Given the description of an element on the screen output the (x, y) to click on. 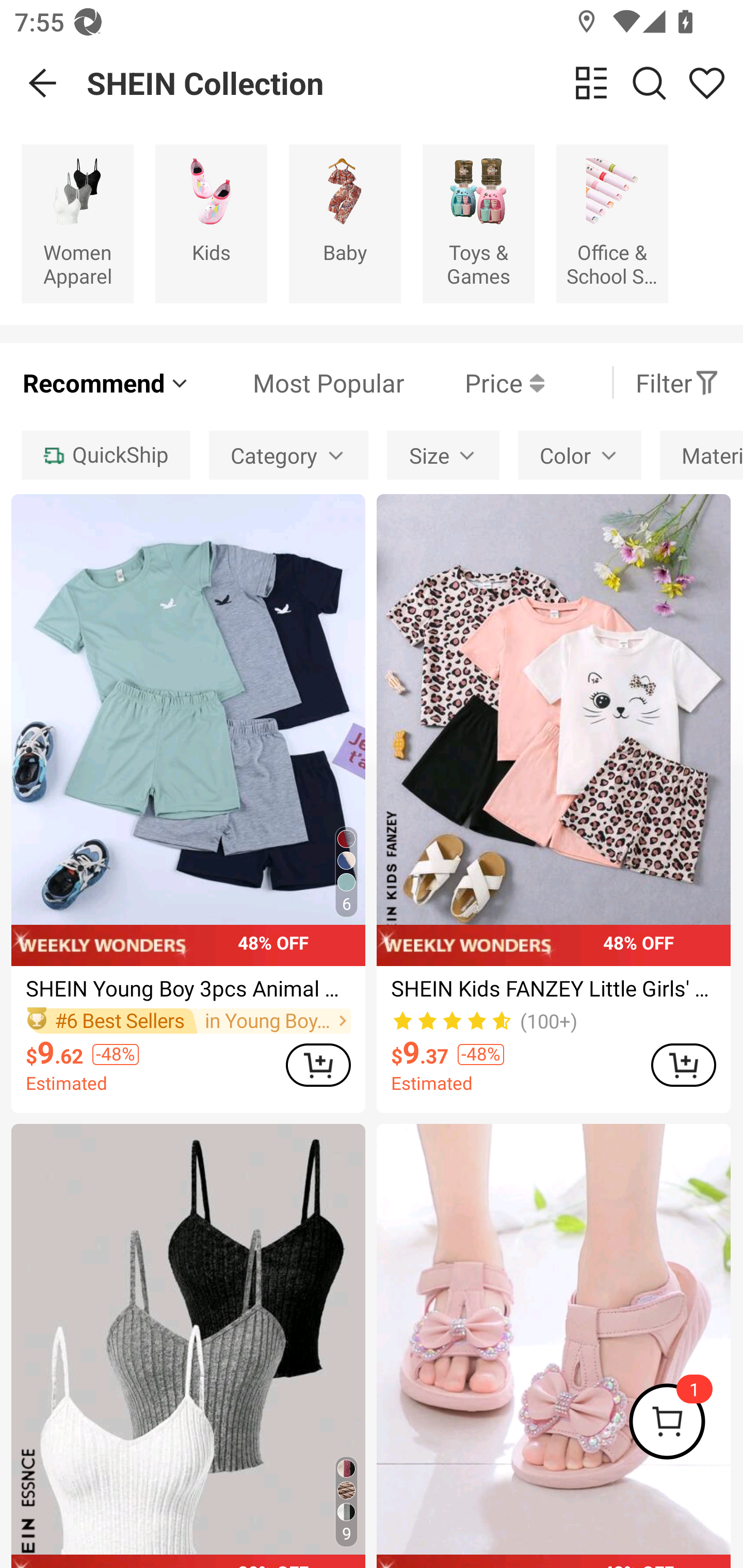
SHEIN Collection change view Search Share (414, 82)
change view (591, 82)
Search (648, 82)
Share (706, 82)
Women Apparel (77, 223)
Kids (211, 223)
Baby (345, 223)
Toys & Games (478, 223)
Office & School Supplies (611, 223)
Recommend (106, 382)
Most Popular (297, 382)
Price (474, 382)
Filter (677, 382)
QuickShip (105, 455)
Category (288, 455)
Size (443, 455)
Color (579, 455)
Material (701, 455)
#6 Best Sellers in Young Boys Sets (188, 1020)
ADD TO CART (318, 1064)
ADD TO CART (683, 1064)
